Given the description of an element on the screen output the (x, y) to click on. 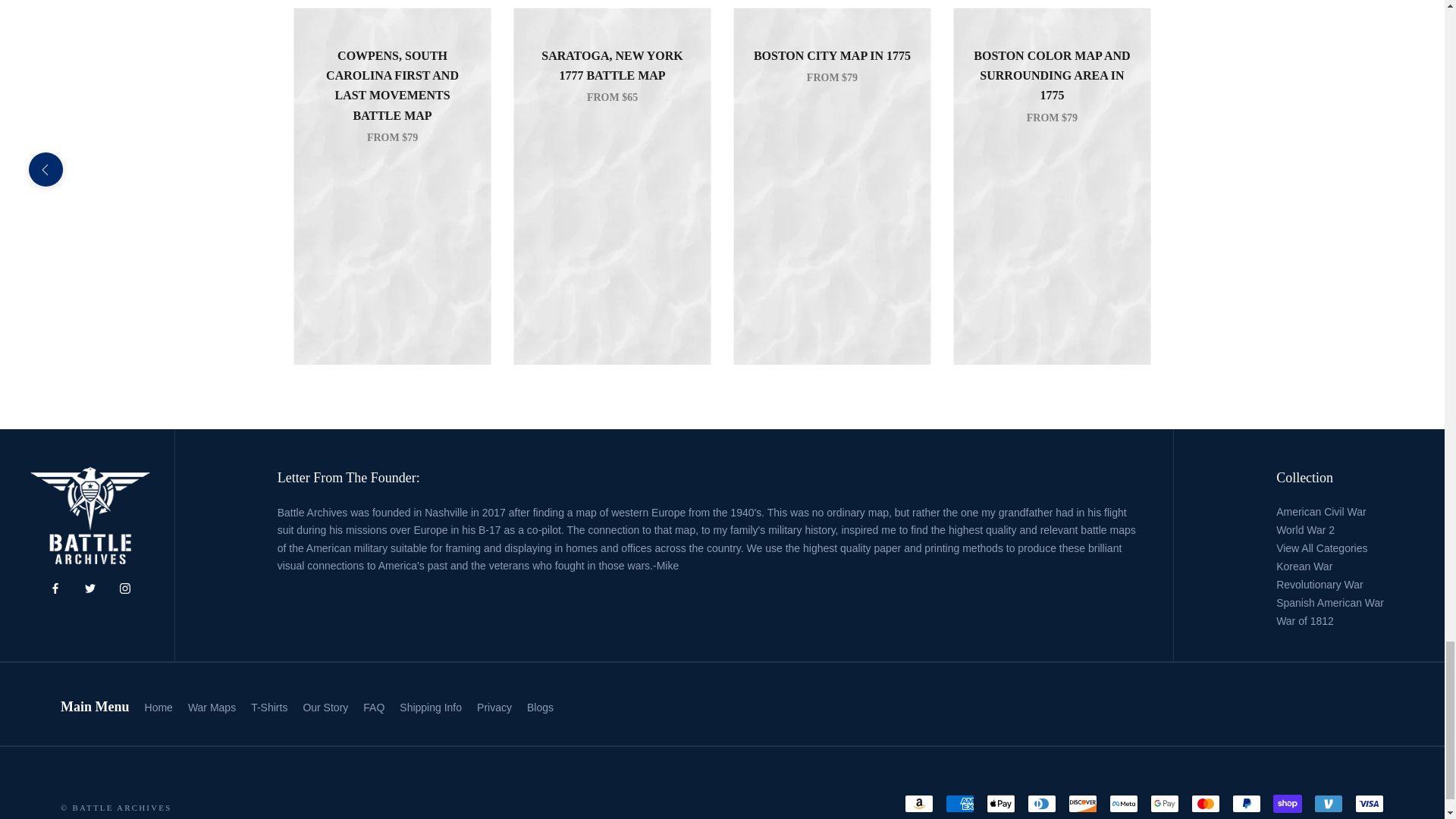
Diners Club (1042, 803)
Shop Pay (1286, 803)
Meta Pay (1123, 803)
Google Pay (1164, 803)
Visa (1369, 803)
Amazon (918, 803)
Apple Pay (1000, 803)
PayPal (1245, 803)
Venmo (1328, 803)
American Express (959, 803)
Discover (1082, 803)
Mastercard (1205, 803)
